Given the description of an element on the screen output the (x, y) to click on. 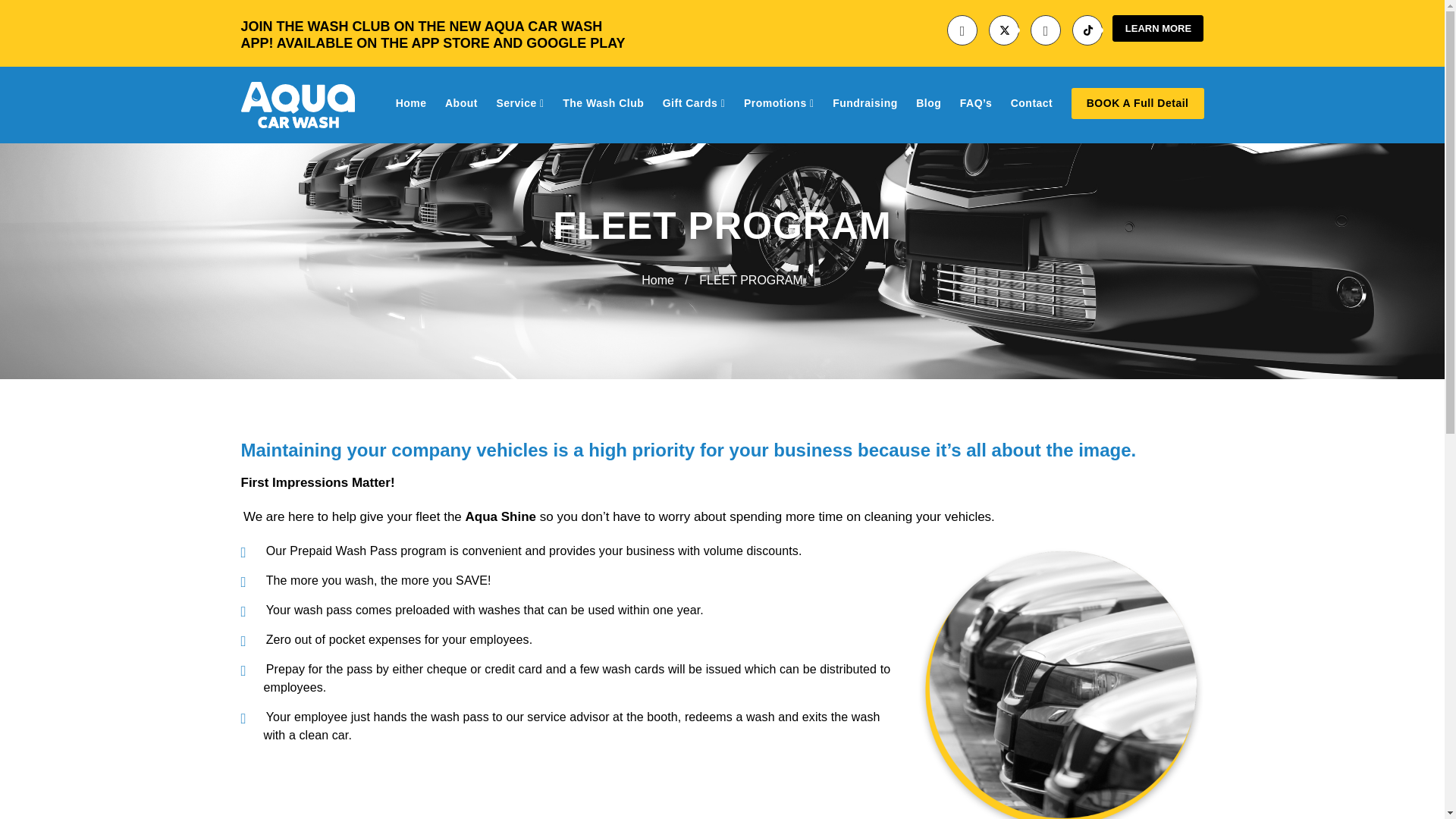
BOOK A Full Detail (1137, 102)
Blog (927, 103)
Home (411, 103)
FLEET PROGRAM (750, 280)
Service (519, 103)
LEARN MORE (1158, 28)
Fundraising (865, 103)
The Wash Club (602, 103)
Promotions (778, 103)
Contact (1031, 103)
